Given the description of an element on the screen output the (x, y) to click on. 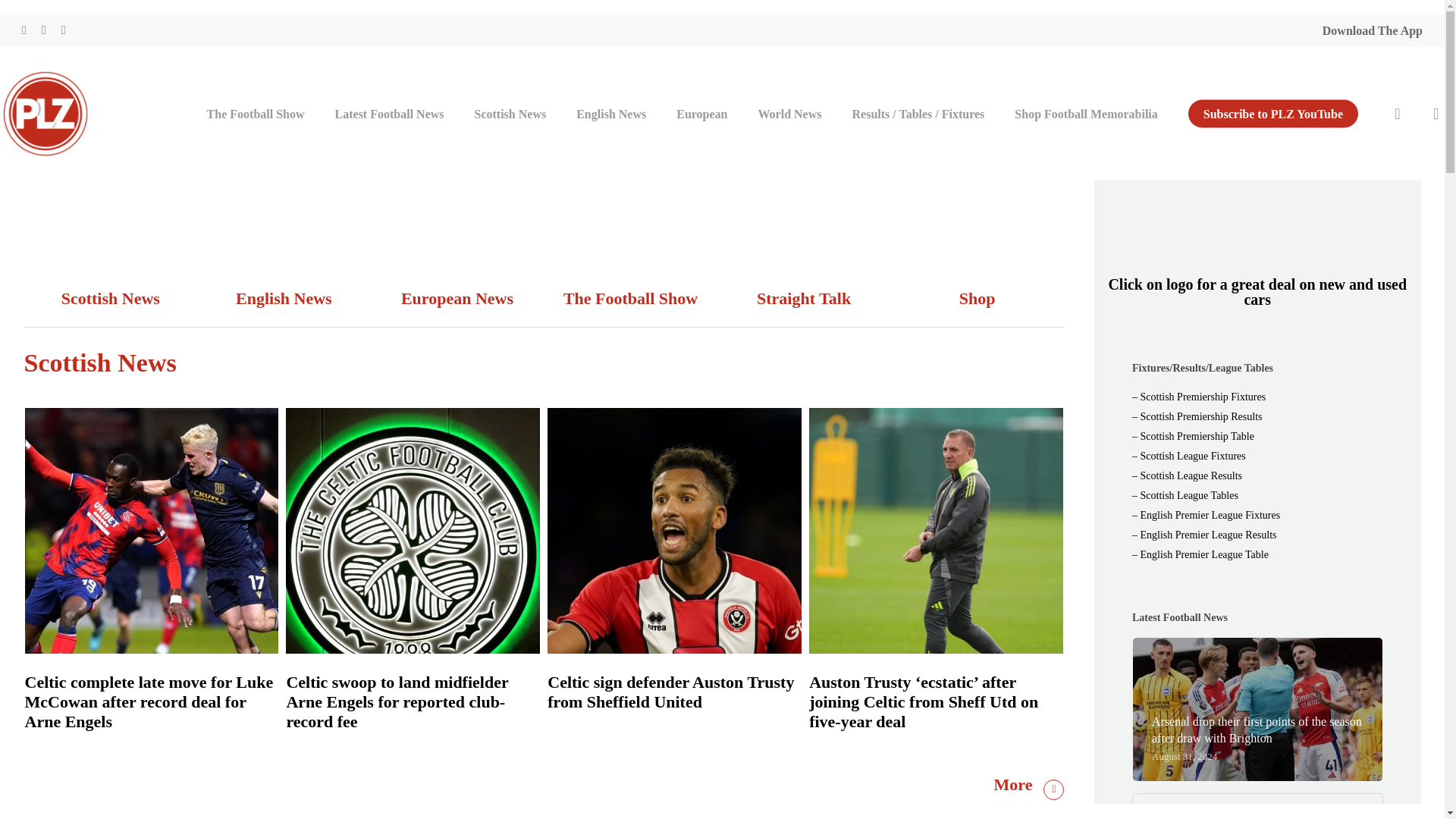
World News (789, 112)
European (701, 112)
English News (610, 112)
Latest Football News (390, 112)
Download The App (1372, 30)
Shop Football Memorabilia (1085, 112)
The Football Show (256, 112)
Scottish News (511, 112)
